Given the description of an element on the screen output the (x, y) to click on. 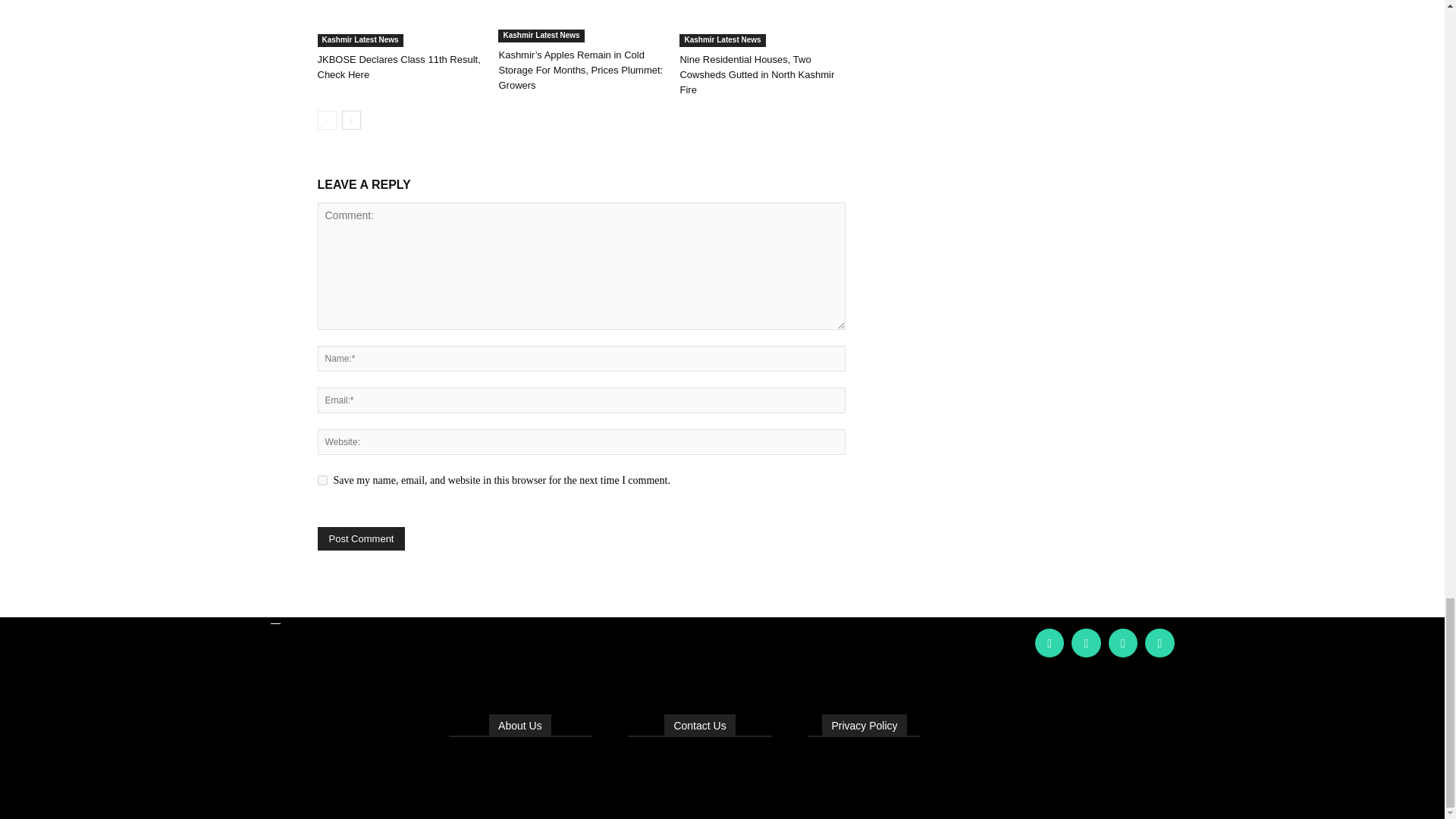
Post Comment (360, 538)
yes (321, 480)
